Given the description of an element on the screen output the (x, y) to click on. 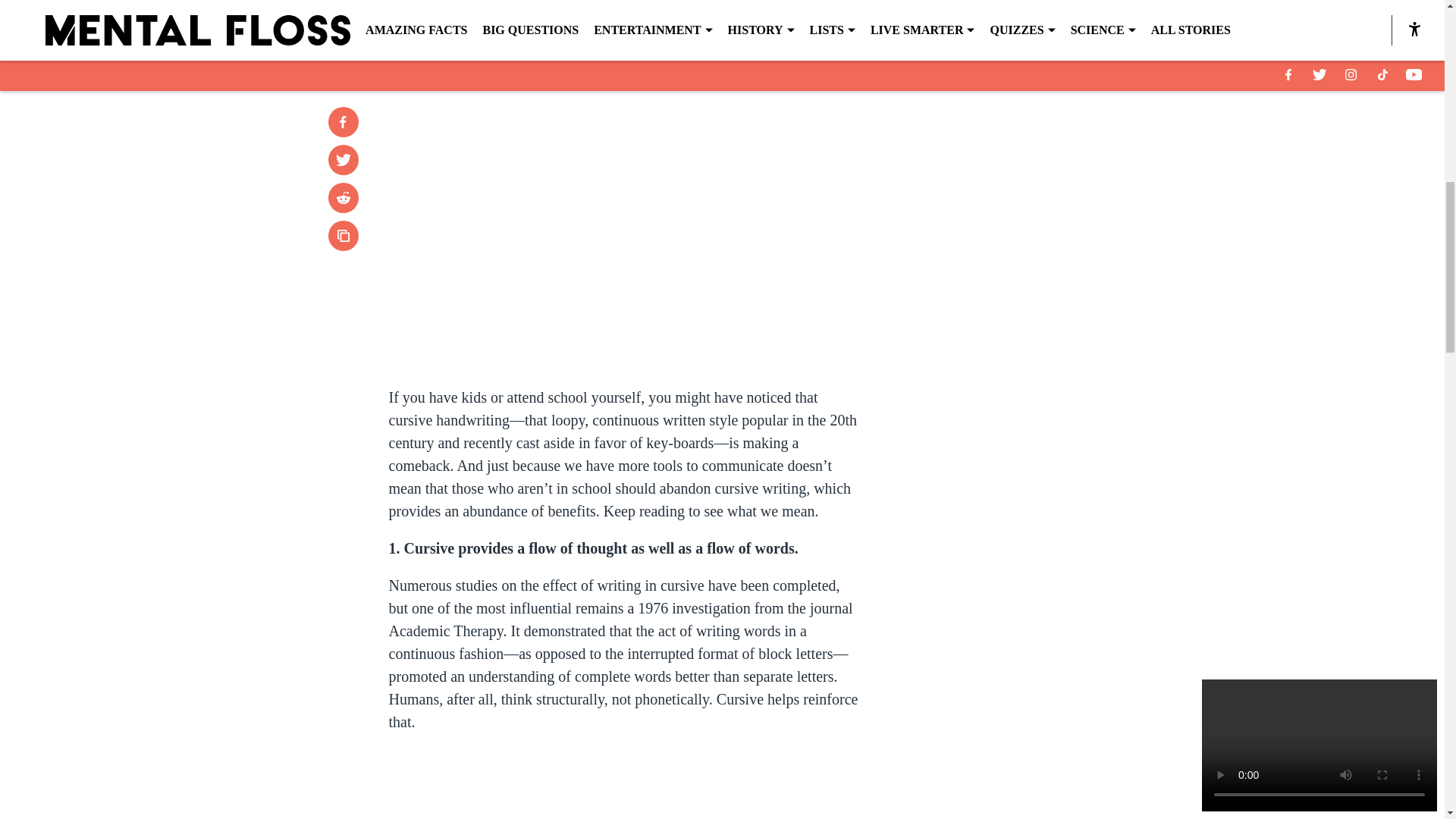
iStock (721, 22)
3rd party ad content (1047, 200)
3rd party ad content (1047, 420)
